Given the description of an element on the screen output the (x, y) to click on. 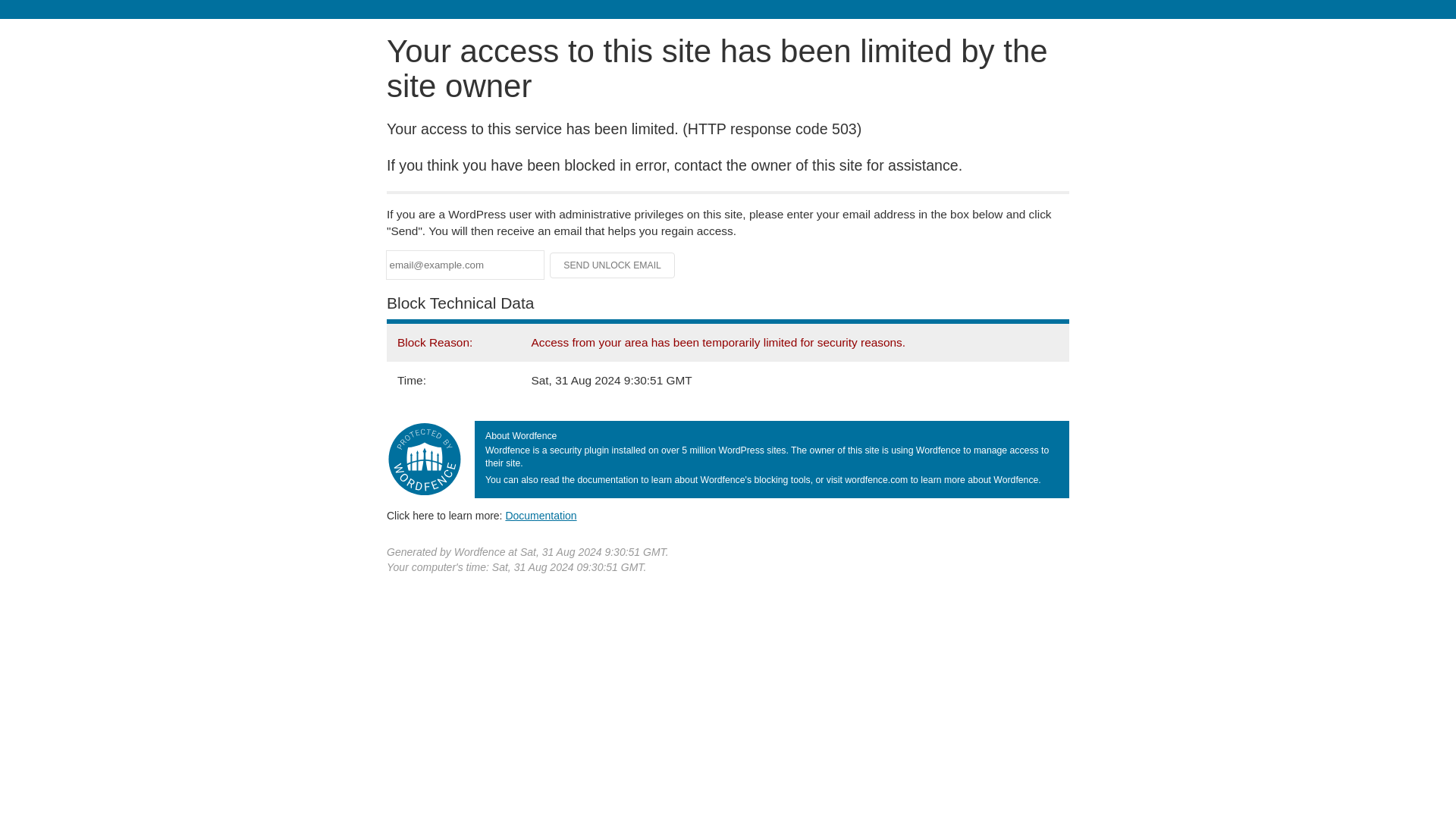
Send Unlock Email (612, 265)
Documentation (540, 515)
Send Unlock Email (612, 265)
